Given the description of an element on the screen output the (x, y) to click on. 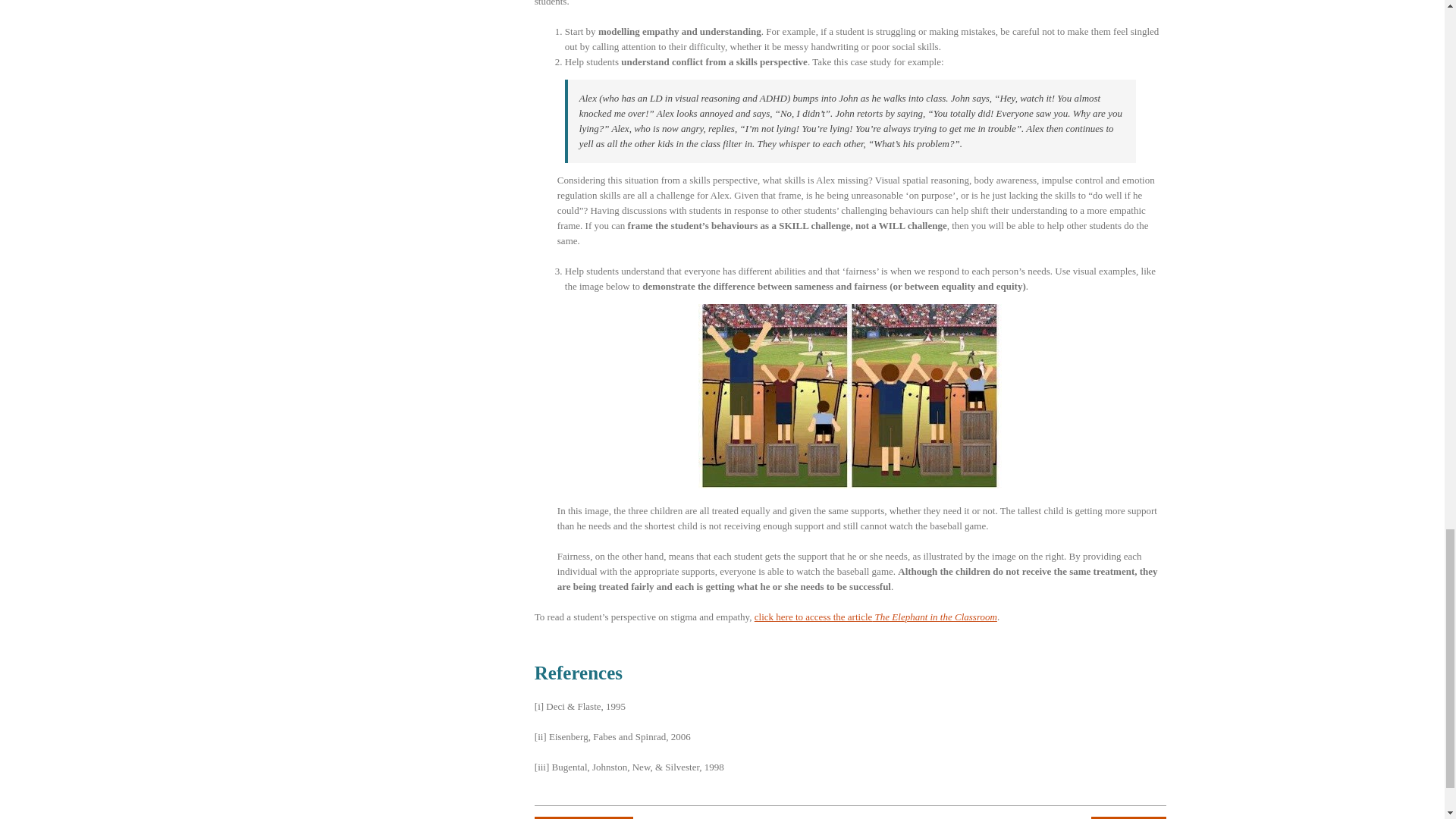
Green Zone (583, 817)
NEXT (1128, 817)
Yellow Zone (1128, 817)
PREVIOUS (583, 817)
